Given the description of an element on the screen output the (x, y) to click on. 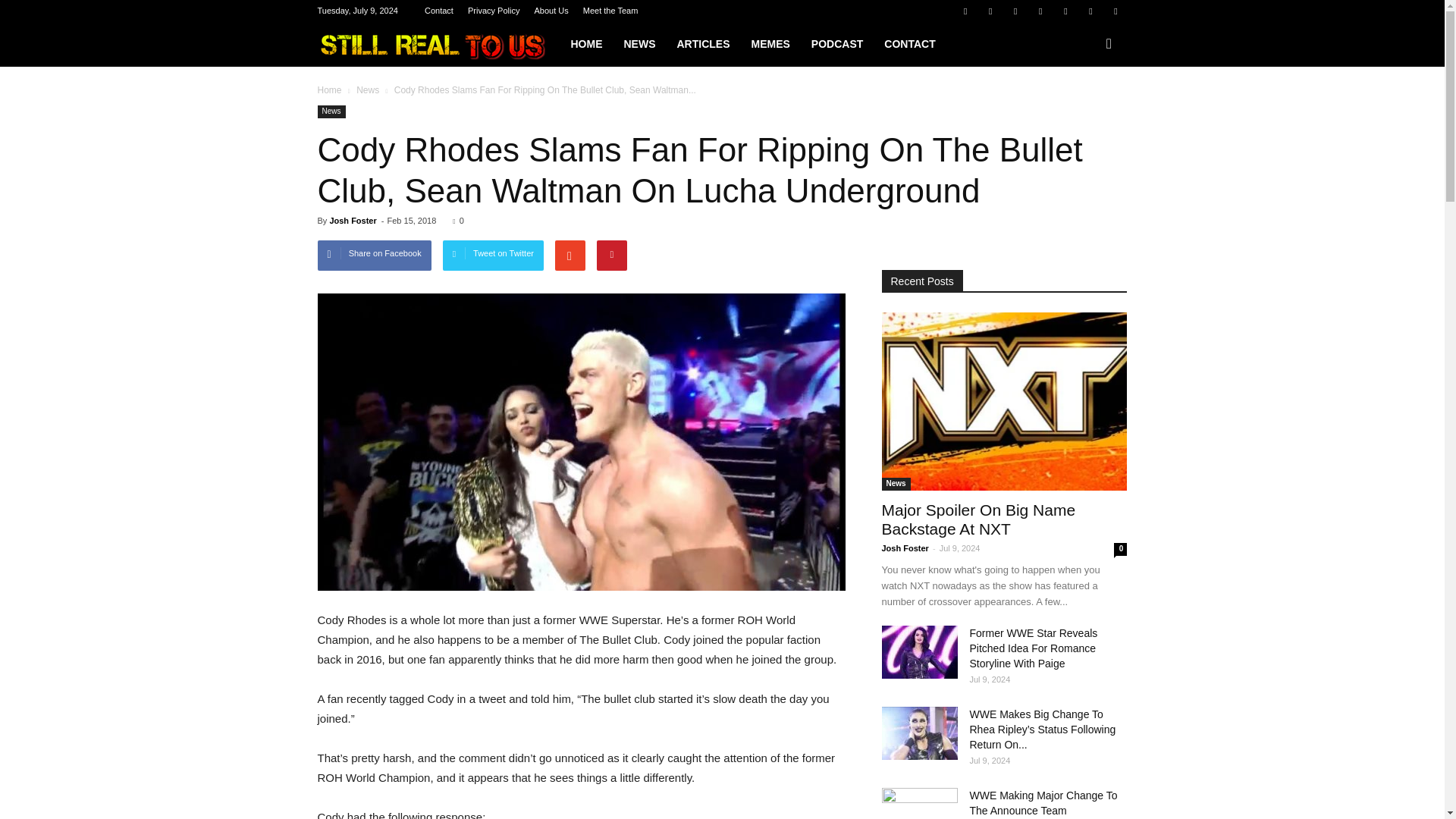
ARTICLES (702, 43)
CONTACT (908, 43)
Instagram (1015, 10)
StillRealToUs.com (438, 43)
Meet the Team (611, 10)
Privacy Policy (493, 10)
MEMES (769, 43)
PODCAST (836, 43)
Pinterest (1040, 10)
About Us (550, 10)
Twitter (1090, 10)
View all posts in News (367, 90)
HOME (585, 43)
Youtube (1114, 10)
NEWS (638, 43)
